Given the description of an element on the screen output the (x, y) to click on. 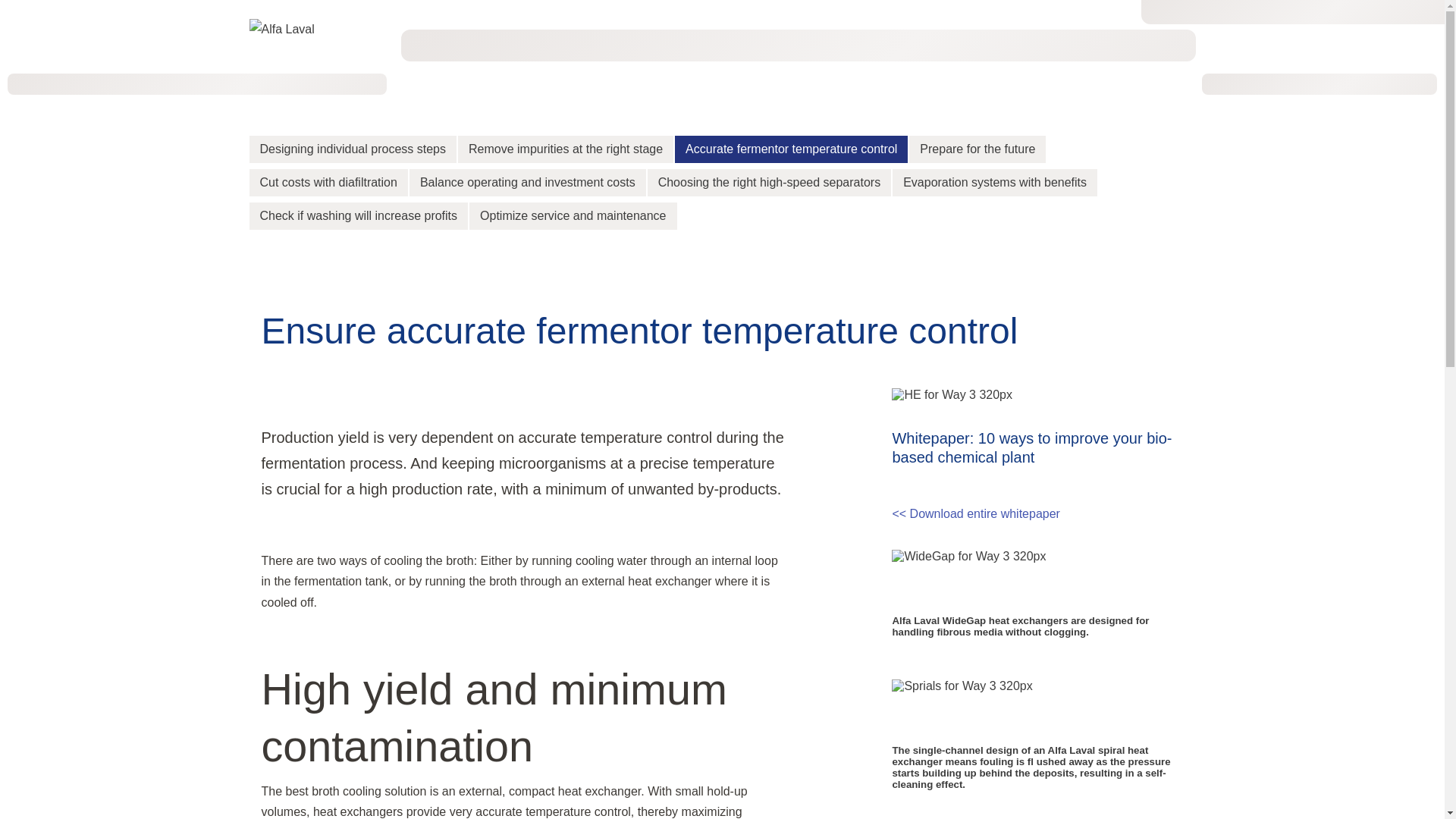
Remove impurities at the right stage (565, 148)
Check if washing will increase profits (357, 216)
Cut costs with diafiltration (327, 182)
Accurate fermentor temperature control (791, 148)
Balance operating and investment costs (527, 182)
Choosing the right high-speed separators (769, 182)
Prepare for the future (976, 148)
Optimize service and maintenance (572, 216)
Designing individual process steps (351, 148)
Evaporation systems with benefits (994, 182)
